Given the description of an element on the screen output the (x, y) to click on. 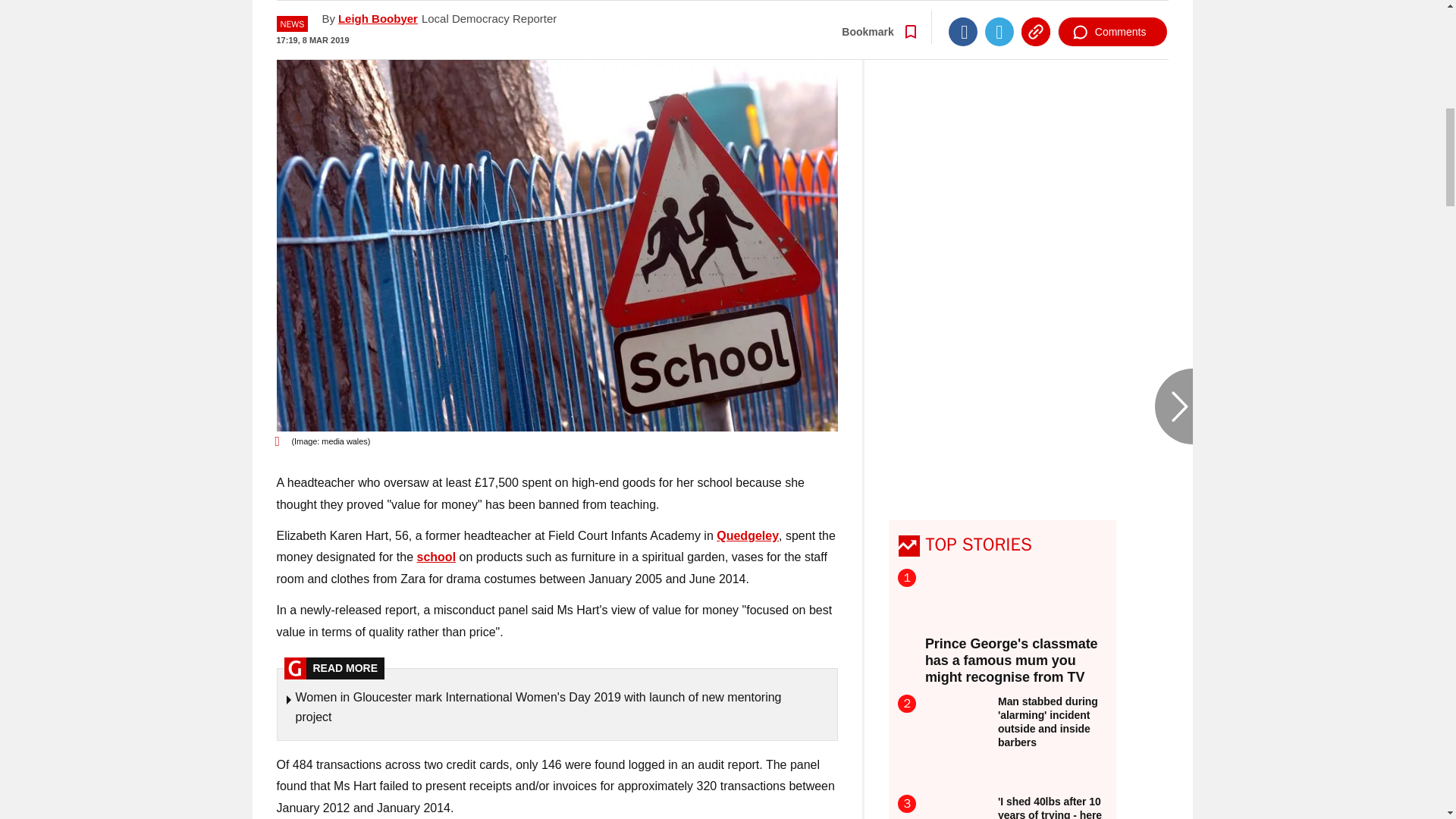
Facebook (962, 13)
Twitter (999, 13)
Comments (1112, 13)
